Given the description of an element on the screen output the (x, y) to click on. 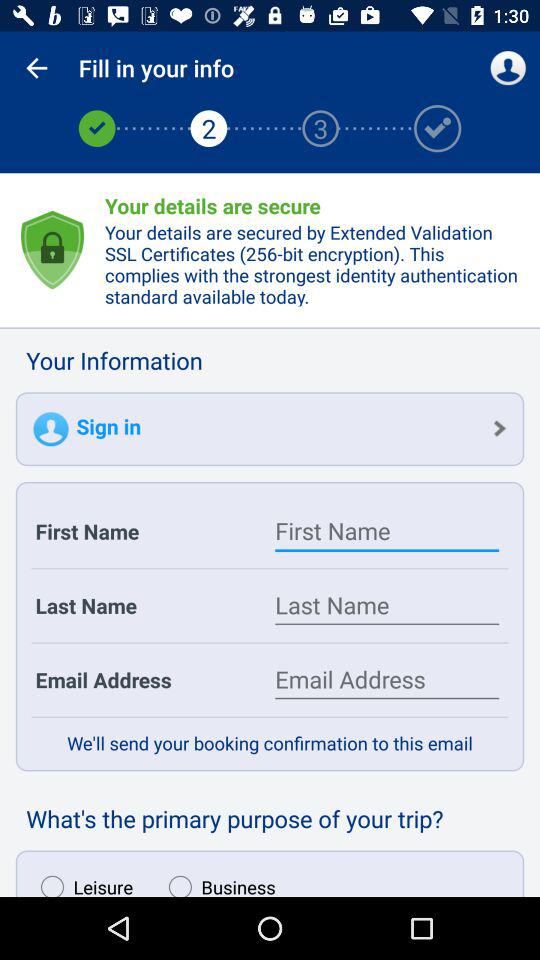
turn on item to the right of leisure item (217, 881)
